Given the description of an element on the screen output the (x, y) to click on. 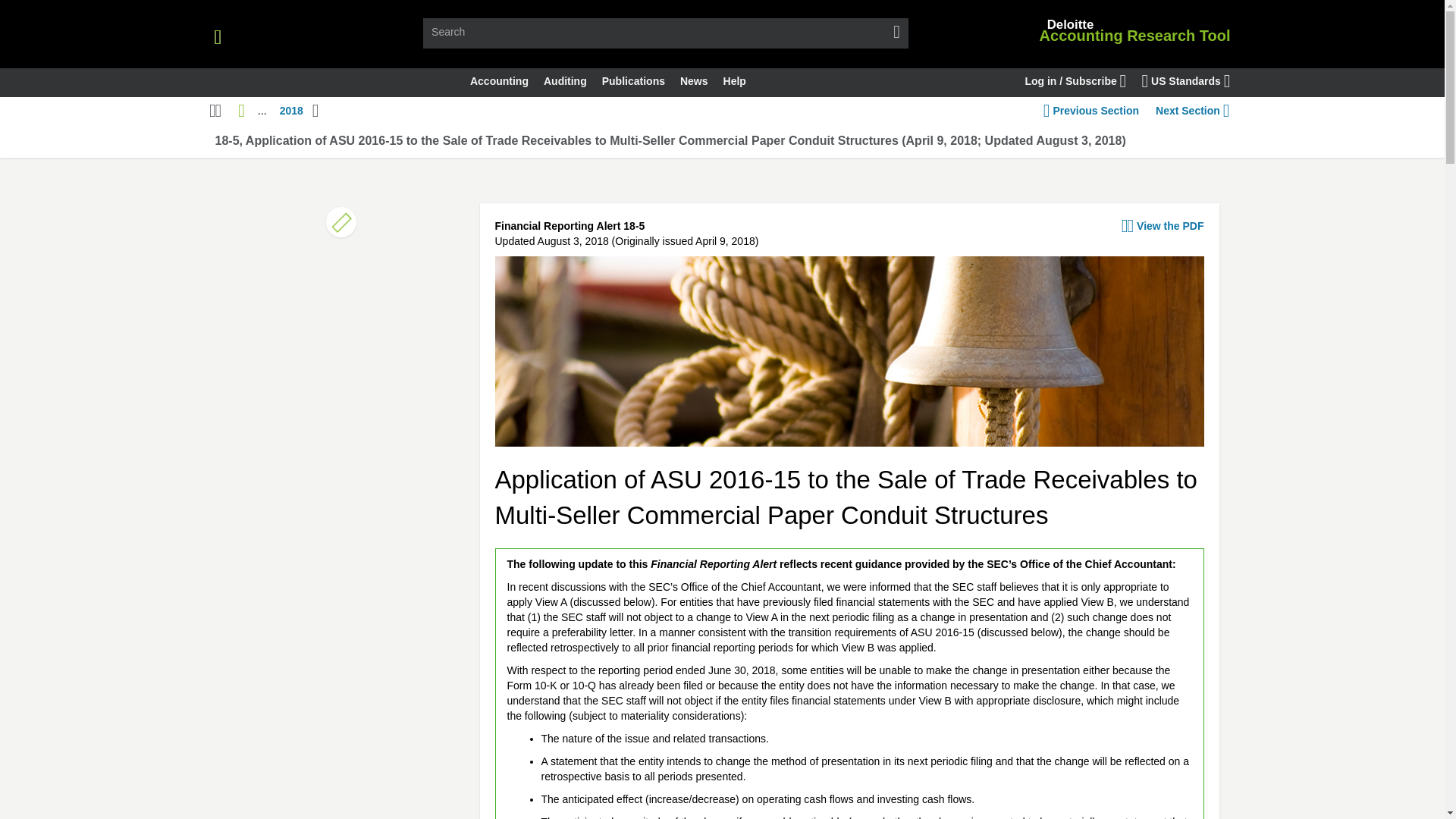
Help (735, 82)
News (694, 82)
Accounting (499, 82)
Publications (633, 82)
US Standards (1185, 82)
Auditing (564, 82)
